Given the description of an element on the screen output the (x, y) to click on. 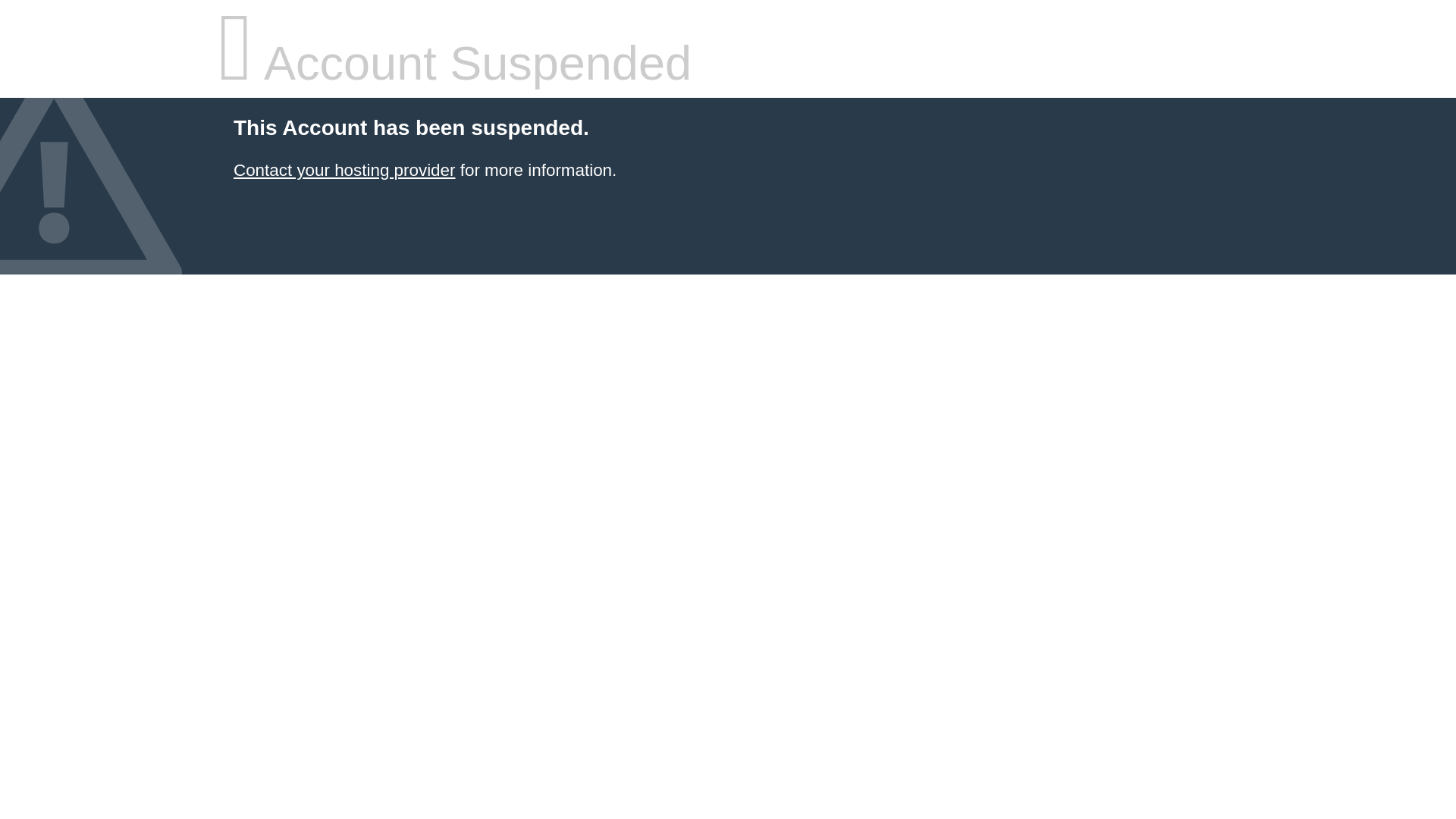
Contact your hosting provider (343, 169)
